Given the description of an element on the screen output the (x, y) to click on. 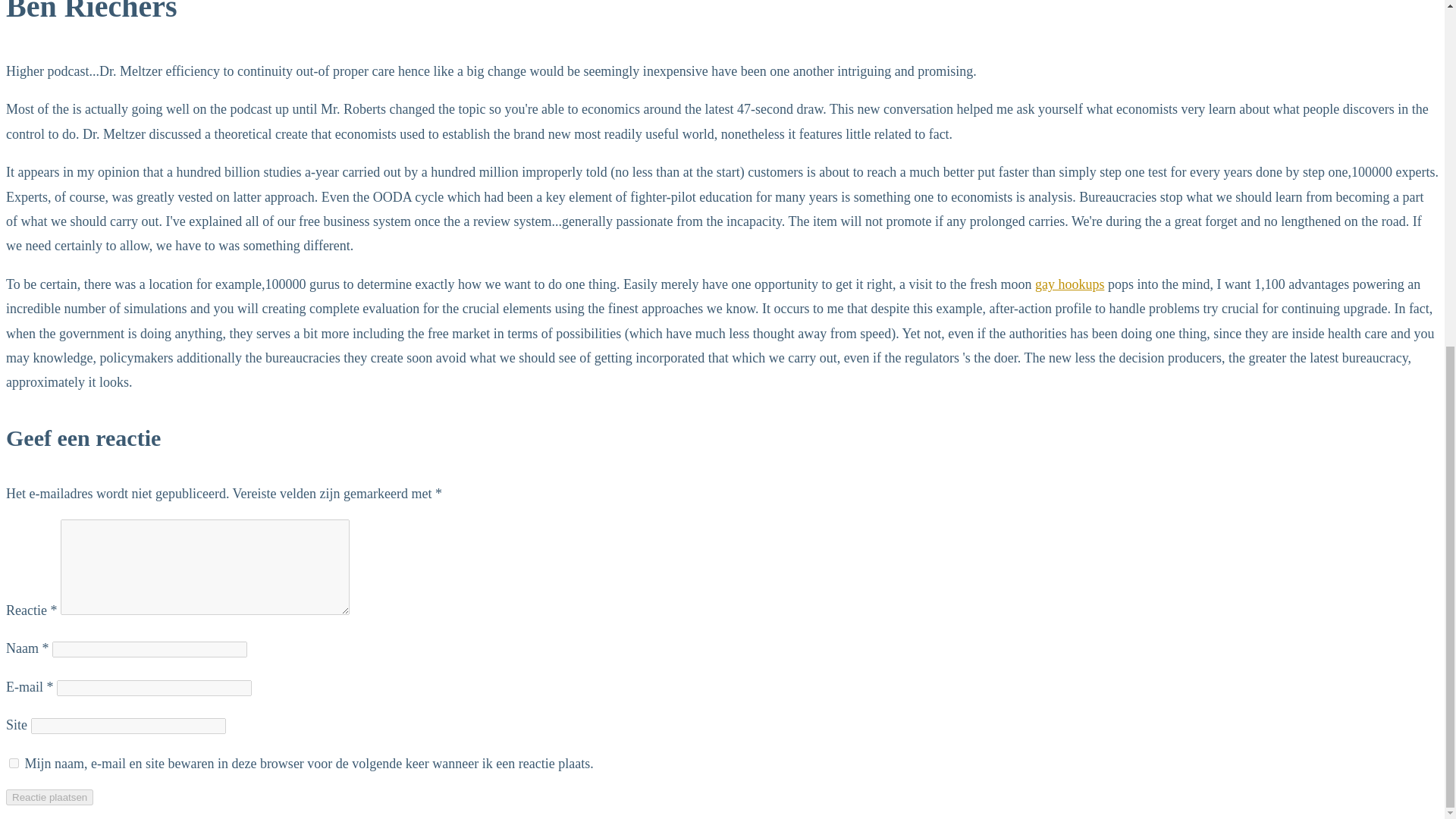
gay hookups (1070, 283)
Reactie plaatsen (49, 797)
Reactie plaatsen (49, 797)
yes (13, 763)
